Given the description of an element on the screen output the (x, y) to click on. 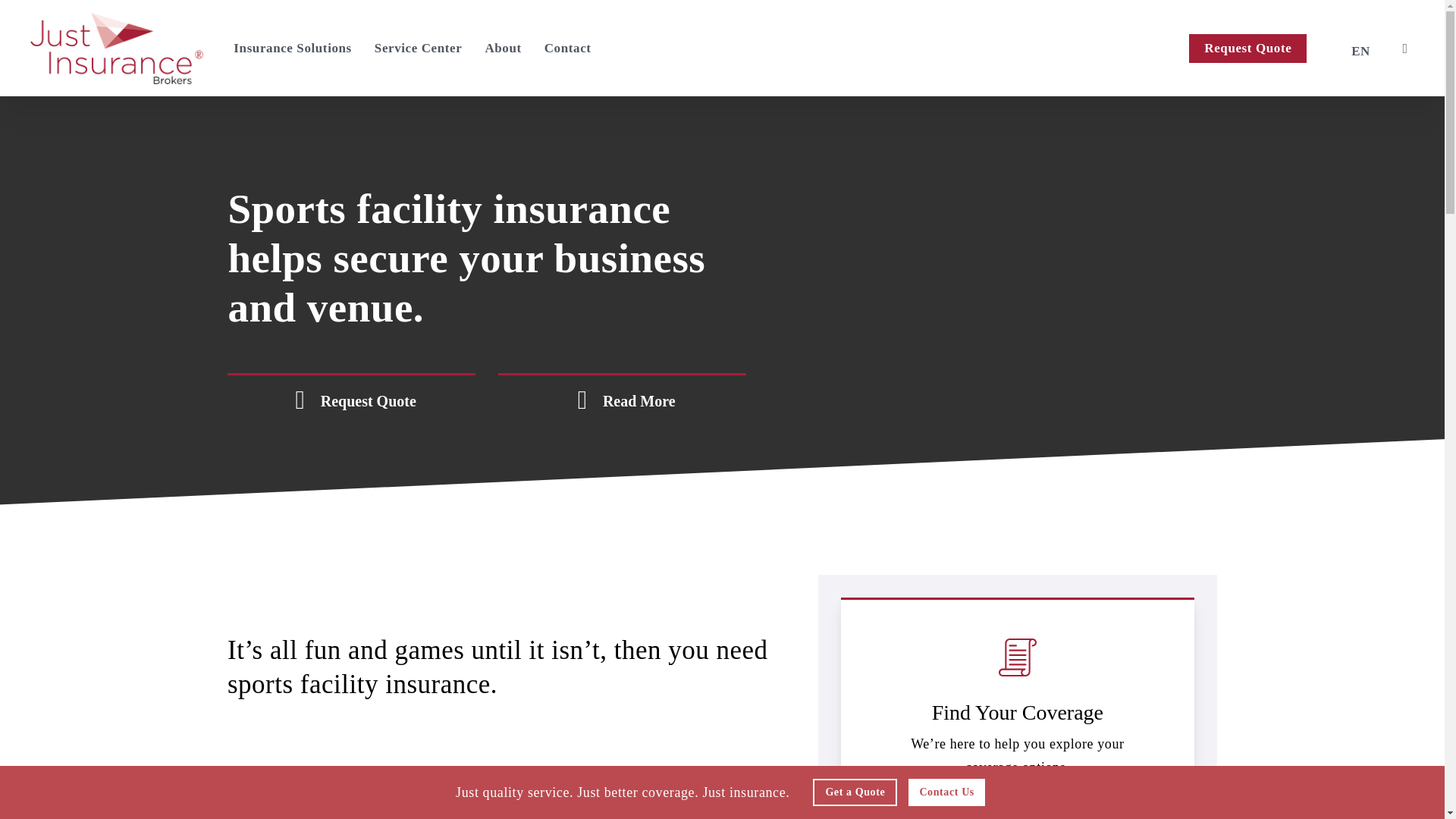
Just quality service. Just better coverage. Just insurance. (628, 796)
About (502, 48)
Insurance Solutions (291, 48)
Service Center (418, 48)
Contact (567, 48)
